Given the description of an element on the screen output the (x, y) to click on. 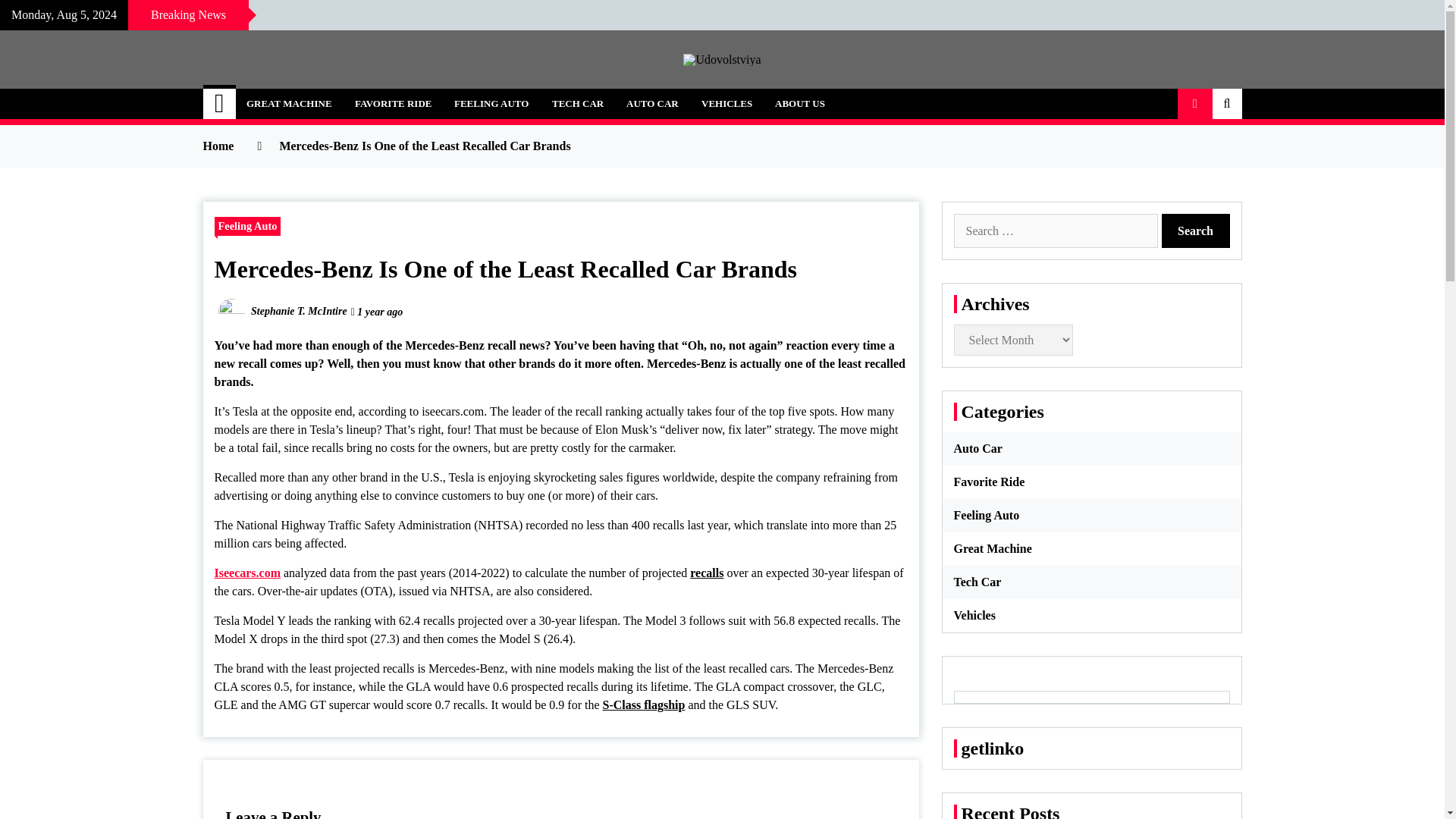
ABOUT US (798, 103)
Udovolstviya (300, 95)
AUTO CAR (652, 103)
FEELING AUTO (491, 103)
TECH CAR (577, 103)
Home (219, 103)
FAVORITE RIDE (392, 103)
VEHICLES (726, 103)
Search (1195, 230)
Search (1195, 230)
GREAT MACHINE (288, 103)
